Given the description of an element on the screen output the (x, y) to click on. 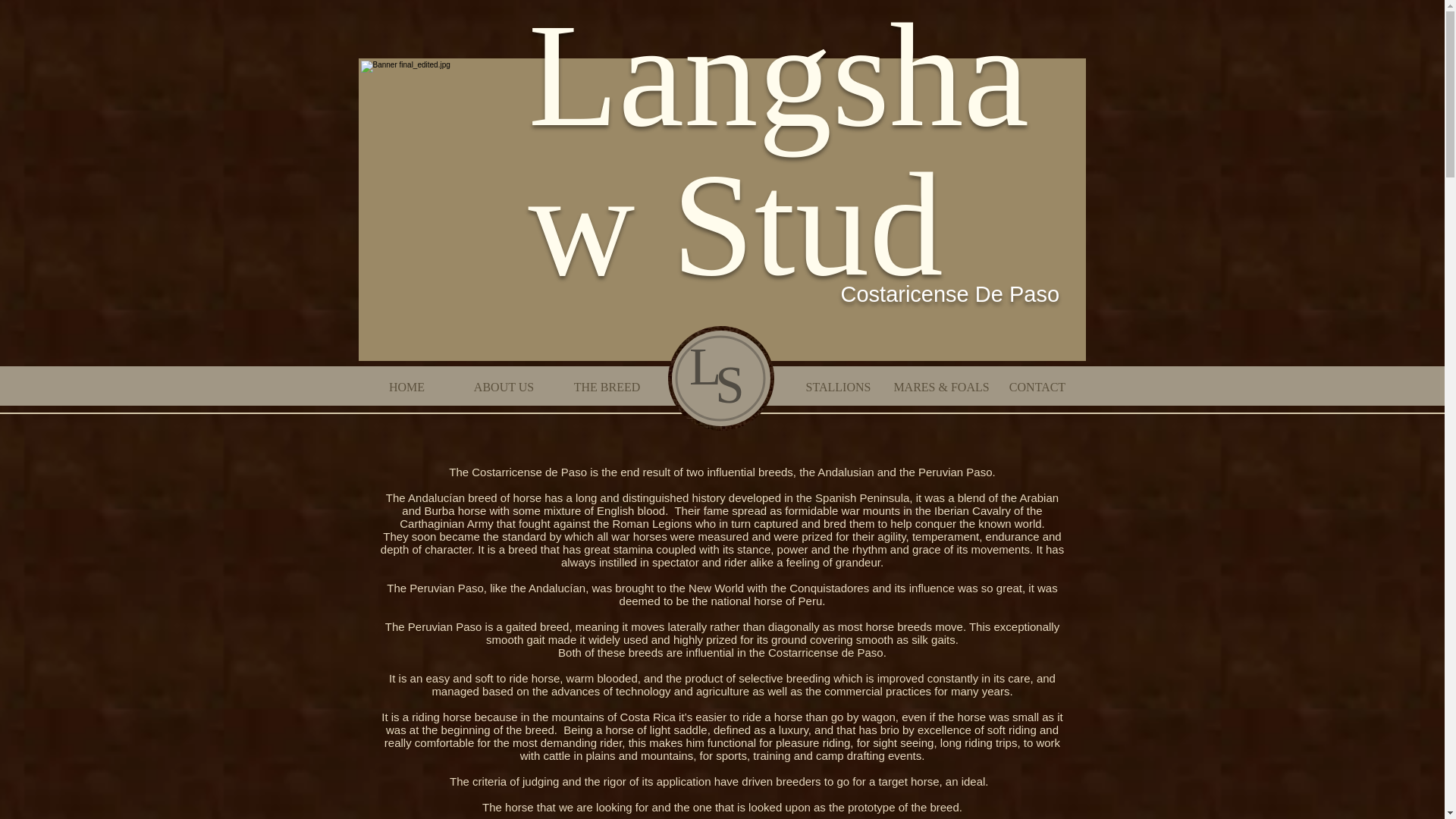
CONTACT (1036, 387)
HOME (407, 387)
STALLIONS (837, 387)
ABOUT US (503, 387)
THE BREED (607, 387)
fff.jpg (719, 377)
